Given the description of an element on the screen output the (x, y) to click on. 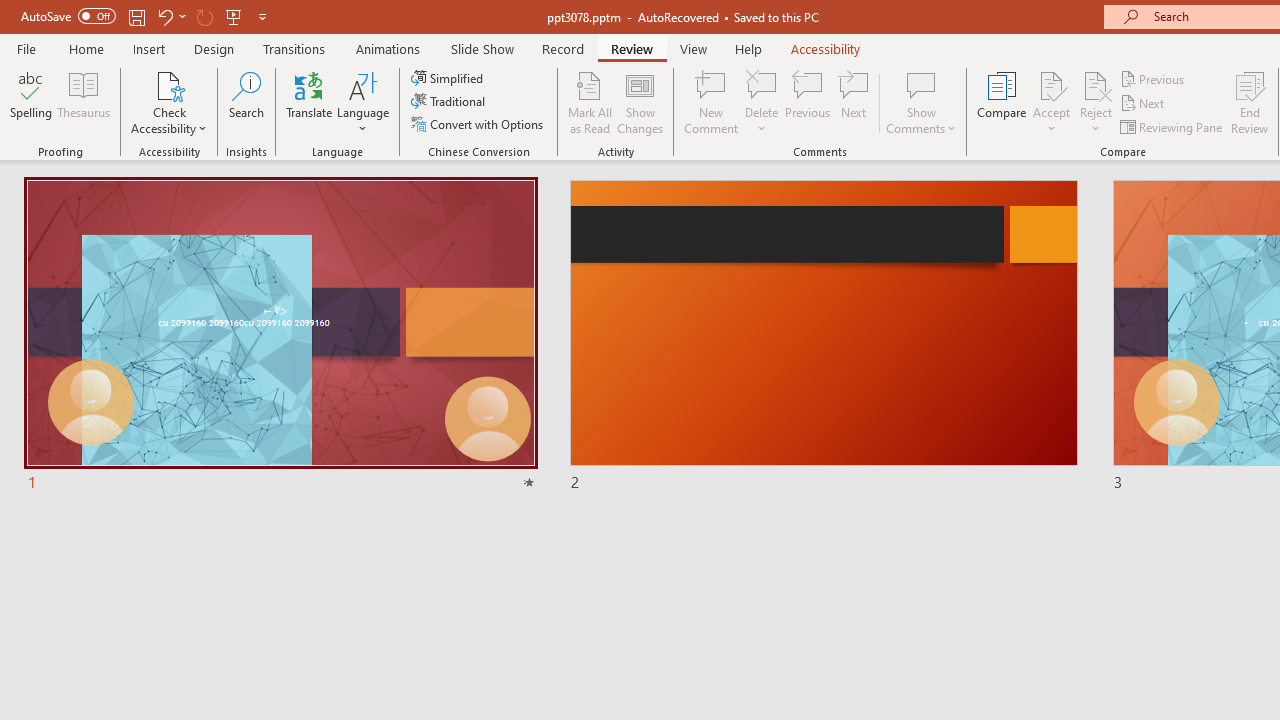
New Comment (711, 102)
Thesaurus... (83, 102)
Accept (1051, 102)
Spelling... (31, 102)
Show Comments (921, 84)
